Given the description of an element on the screen output the (x, y) to click on. 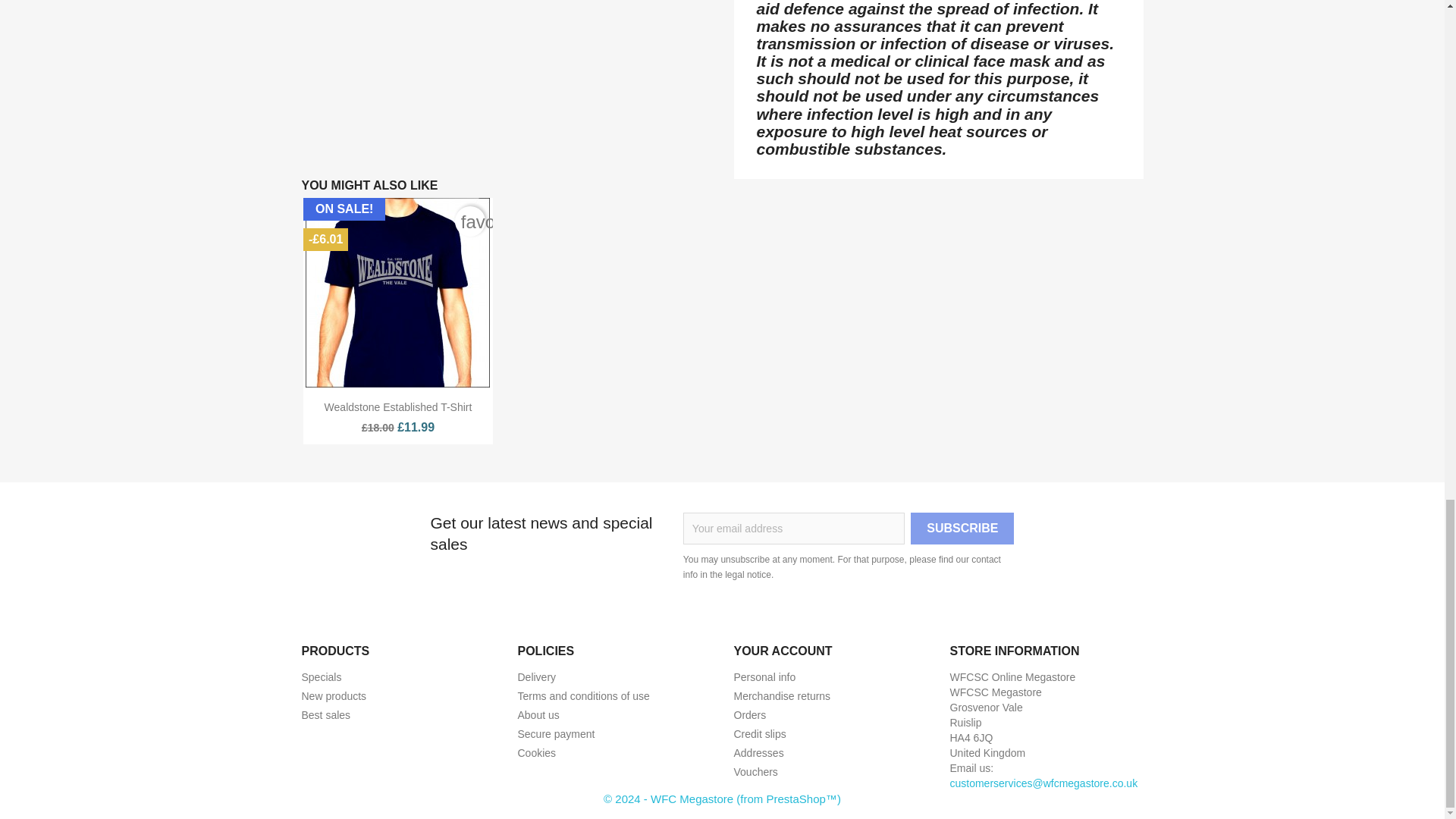
Our secure payment mean (555, 734)
Our terms and conditions of delivery (536, 676)
Our use of cookies (536, 752)
Our special products (321, 676)
Our best sales (325, 715)
Subscribe (962, 528)
Our new products (333, 695)
Learn more about us (537, 715)
Our terms and conditions of use (582, 695)
